Given the description of an element on the screen output the (x, y) to click on. 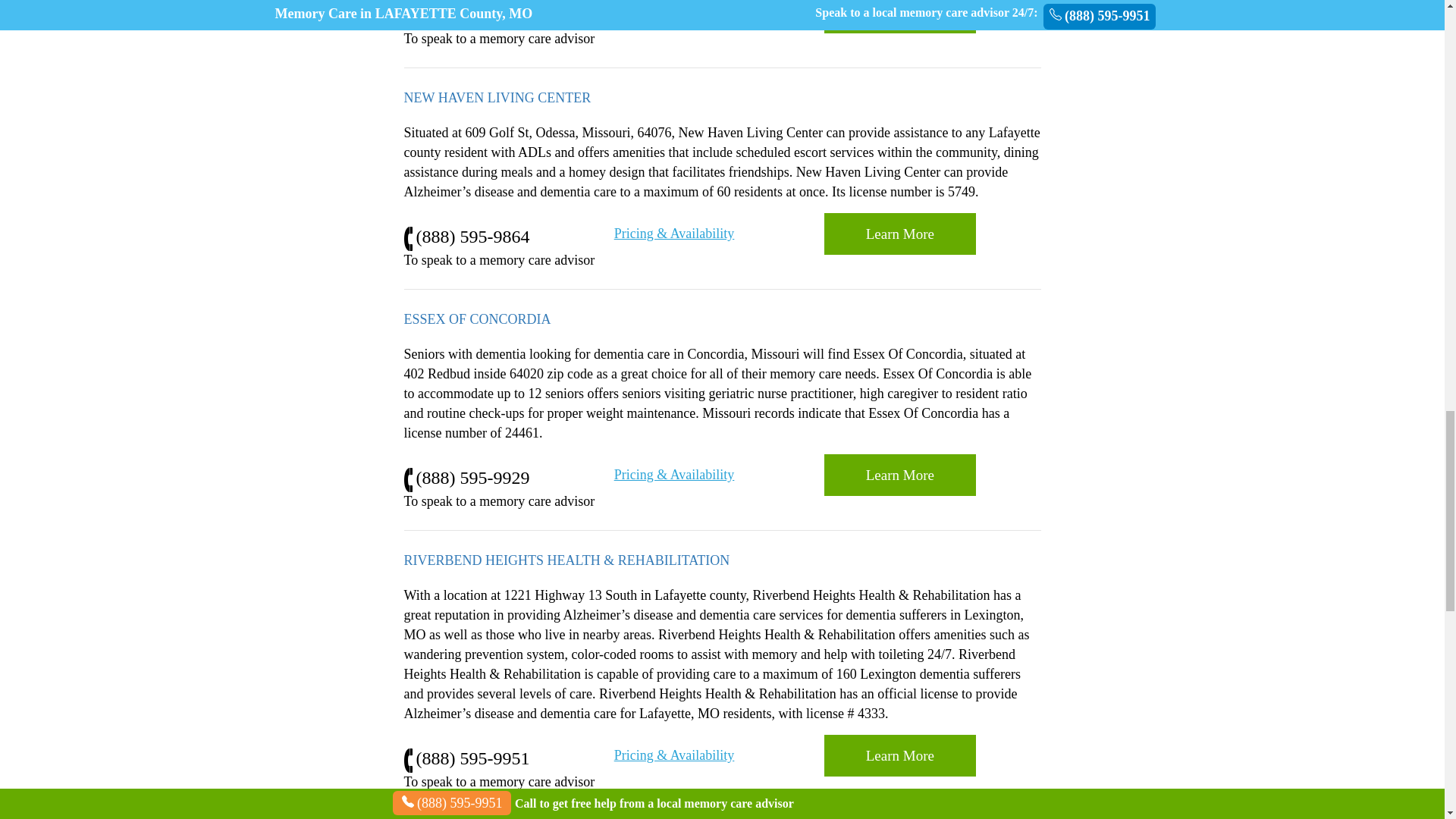
Learn More (899, 475)
Learn More (899, 233)
Learn More (899, 755)
Learn More (899, 755)
Learn More (899, 16)
Learn More (899, 475)
Learn More (899, 16)
Learn More (899, 233)
